Given the description of an element on the screen output the (x, y) to click on. 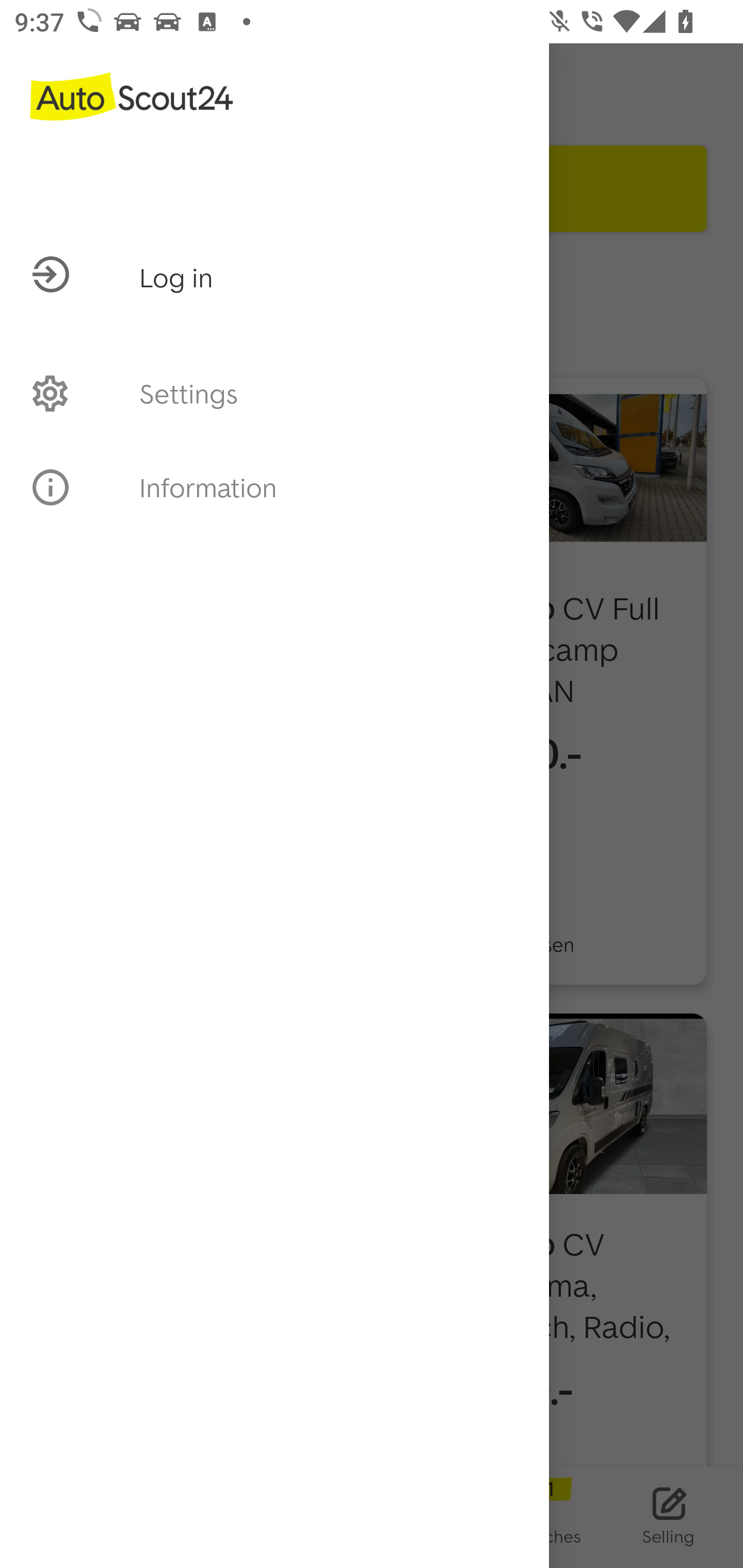
PROFILE Settings (274, 393)
INFO Information (274, 487)
